Given the description of an element on the screen output the (x, y) to click on. 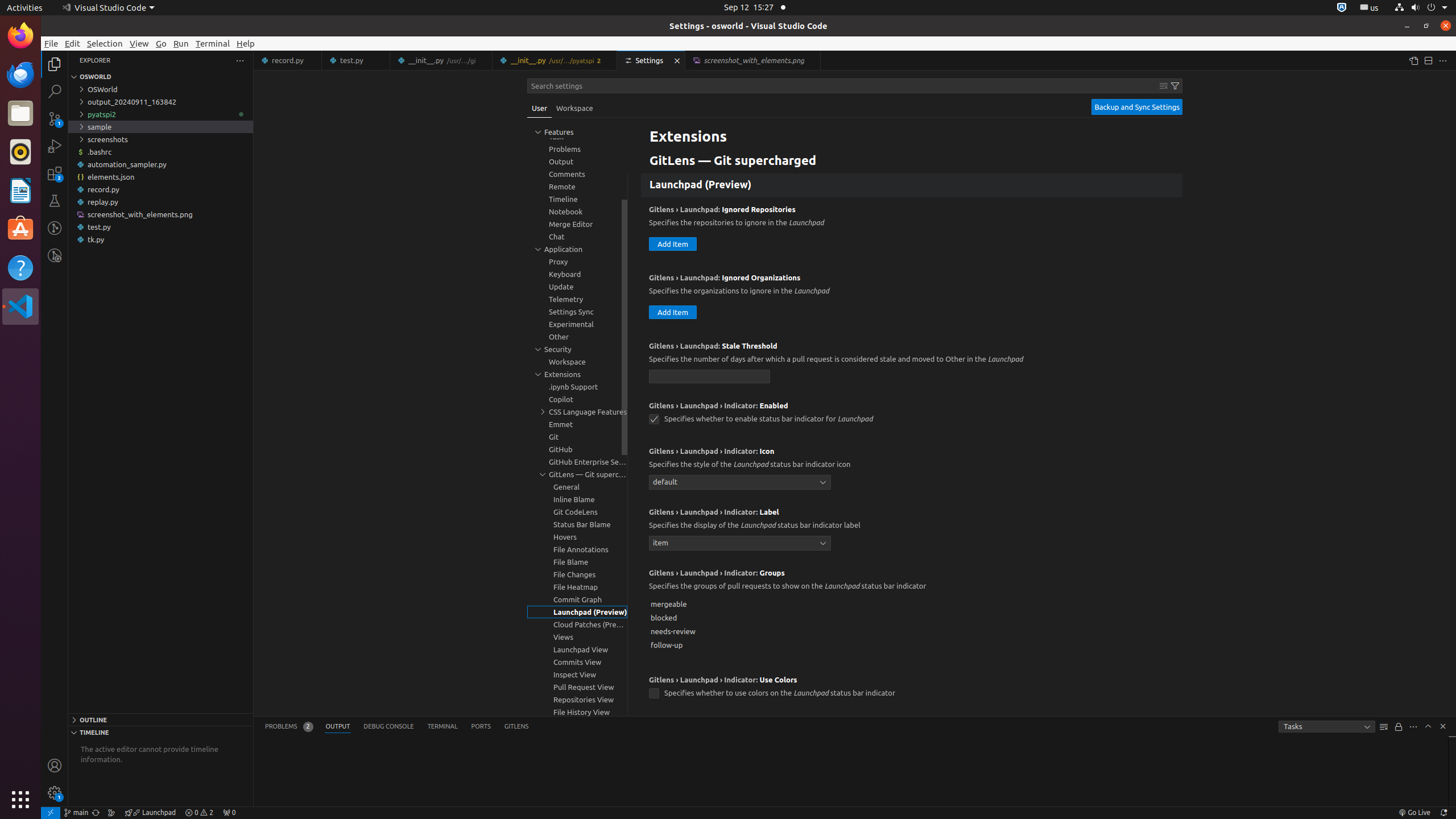
Show the GitLens Commit Graph Element type: push-button (111, 812)
Copilot, group Element type: tree-item (577, 399)
View Element type: push-button (139, 43)
Output (Ctrl+K Ctrl+H) Element type: page-tab (337, 726)
Problems, group Element type: tree-item (577, 148)
